Given the description of an element on the screen output the (x, y) to click on. 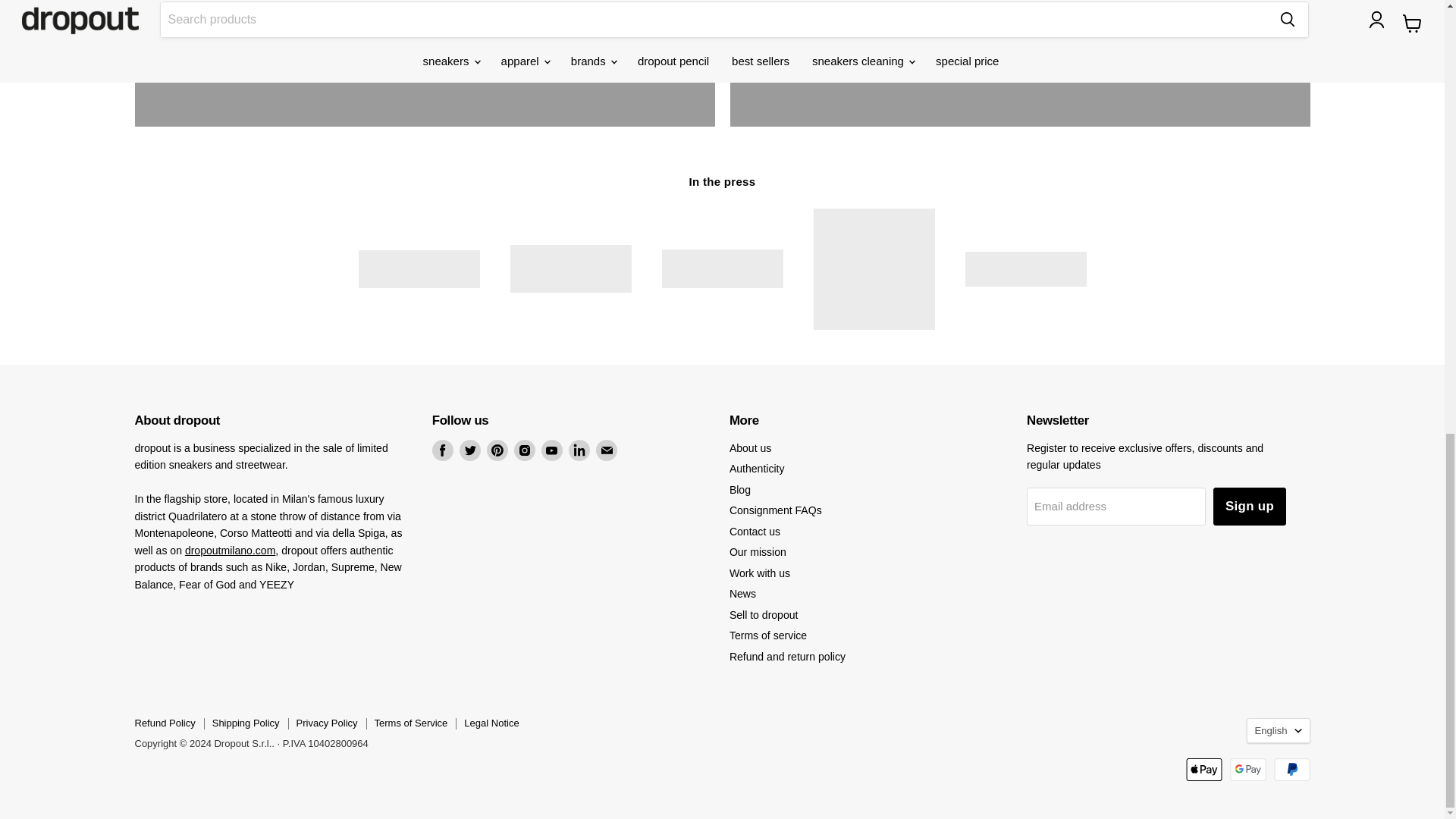
LinkedIn (579, 450)
Pinterest (497, 450)
Facebook (442, 450)
Email (606, 450)
Youtube (551, 450)
Twitter (470, 450)
Instagram (524, 450)
